Given the description of an element on the screen output the (x, y) to click on. 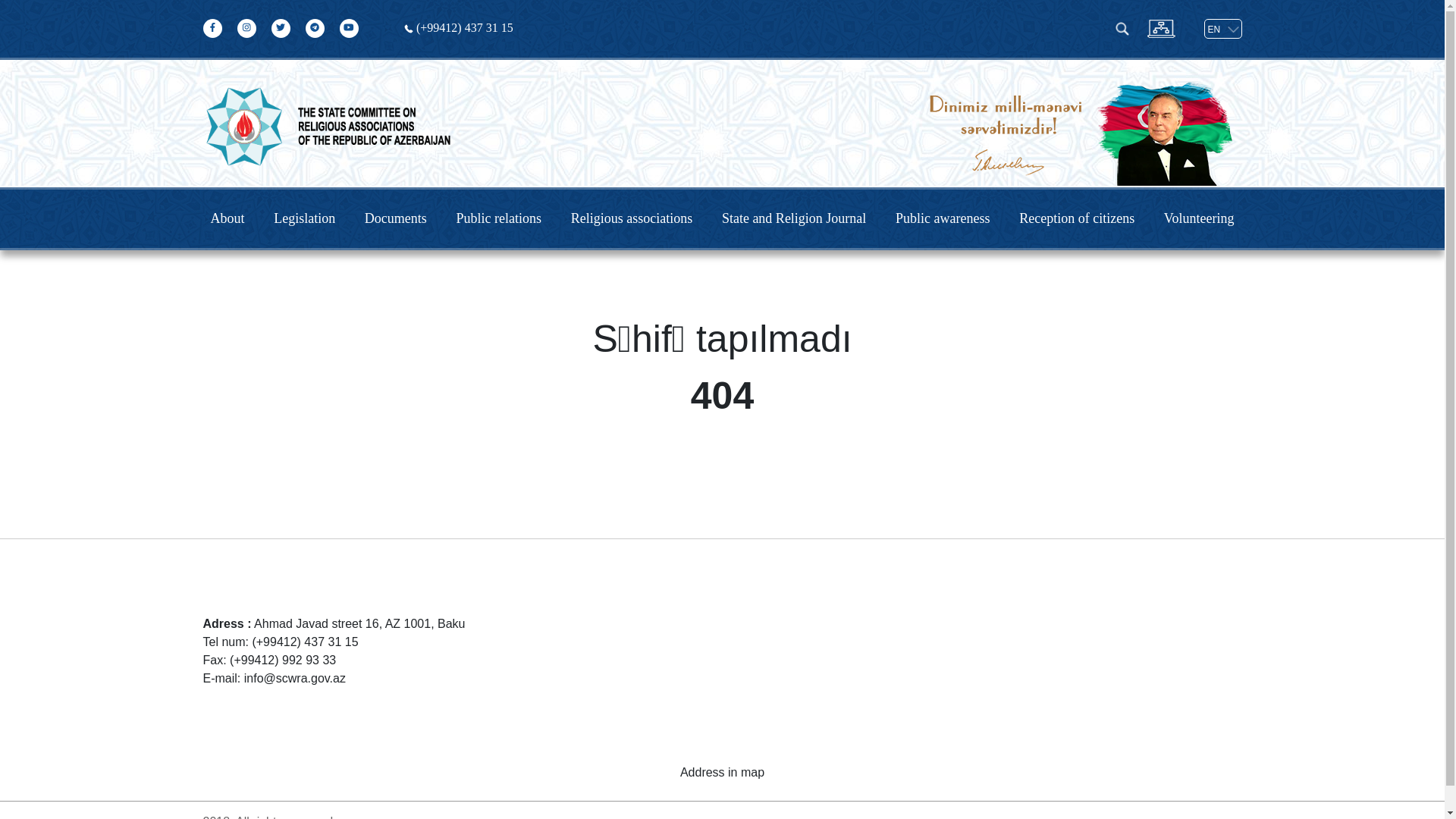
Public relations Element type: text (498, 218)
Legislation Element type: text (304, 218)
Religious associations Element type: text (631, 218)
State and Religion Journal Element type: text (793, 218)
Public awareness Element type: text (942, 218)
About Element type: text (227, 218)
Reception of citizens Element type: text (1076, 218)
Documents Element type: text (395, 218)
Address in map Element type: text (722, 772)
Volunteering Element type: text (1199, 218)
